Given the description of an element on the screen output the (x, y) to click on. 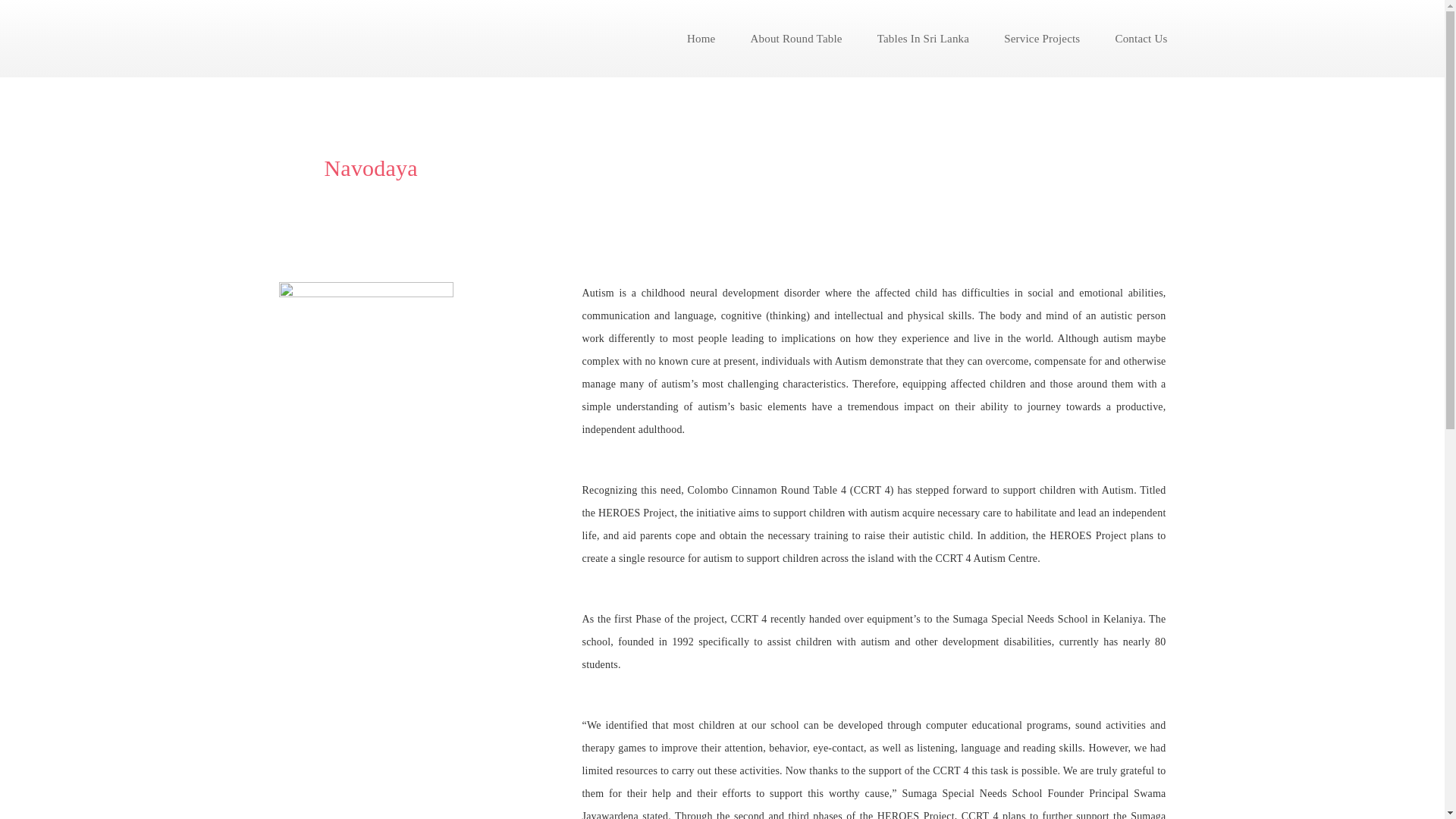
Contact Us (1140, 38)
Service Projects (1041, 38)
About Round Table (796, 38)
About Round Table (796, 38)
Tables In Sri Lanka (922, 38)
Tables In Sri Lanka (922, 38)
